Given the description of an element on the screen output the (x, y) to click on. 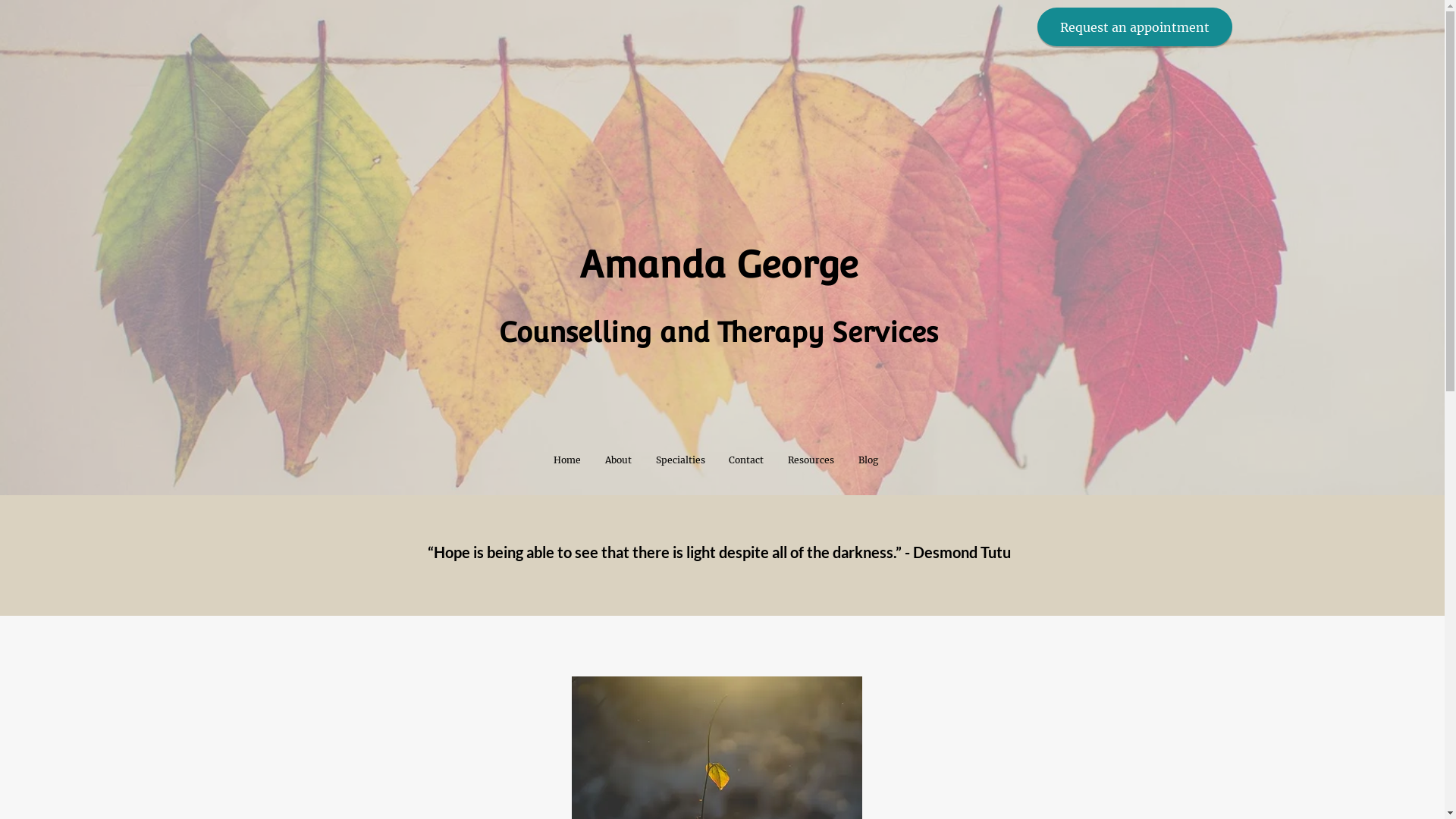
Contact Element type: text (746, 460)
Blog Element type: text (868, 460)
Specialties Element type: text (680, 460)
Request an appointment Element type: text (1134, 26)
About Element type: text (618, 460)
Home Element type: text (567, 460)
Resources Element type: text (810, 460)
